Given the description of an element on the screen output the (x, y) to click on. 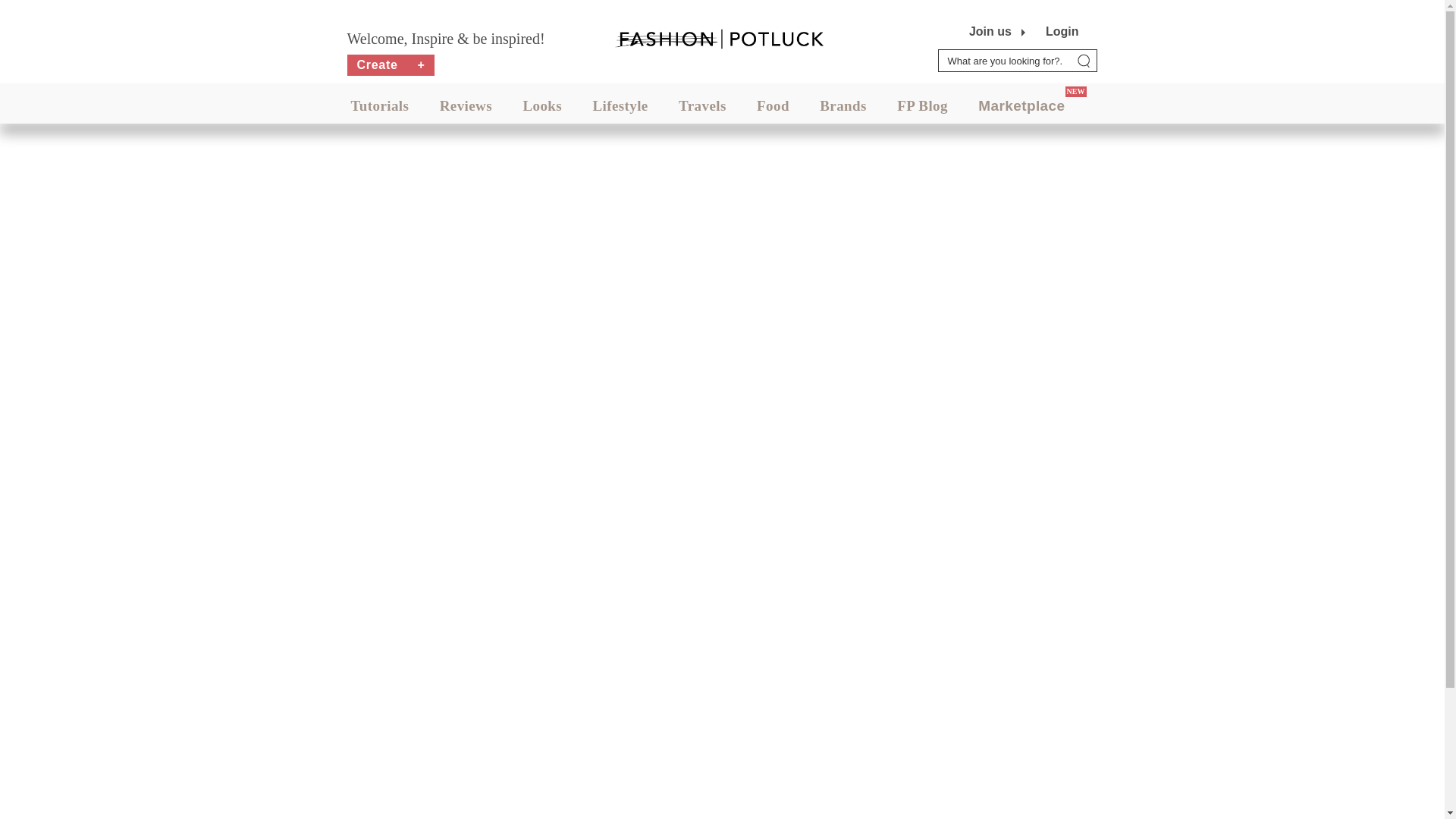
MARKETPLACE (1021, 105)
Marketplace (1021, 105)
Reviews (465, 105)
Food (773, 105)
LOOKS (542, 105)
Looks (542, 105)
Lifestyle (619, 105)
TRAVELS (702, 105)
Travels (702, 105)
FP-Blog (921, 105)
REVIEWS (465, 105)
Tutorials (379, 105)
LIFESTYLE (619, 105)
FP Blog (921, 105)
Join us (990, 31)
